Given the description of an element on the screen output the (x, y) to click on. 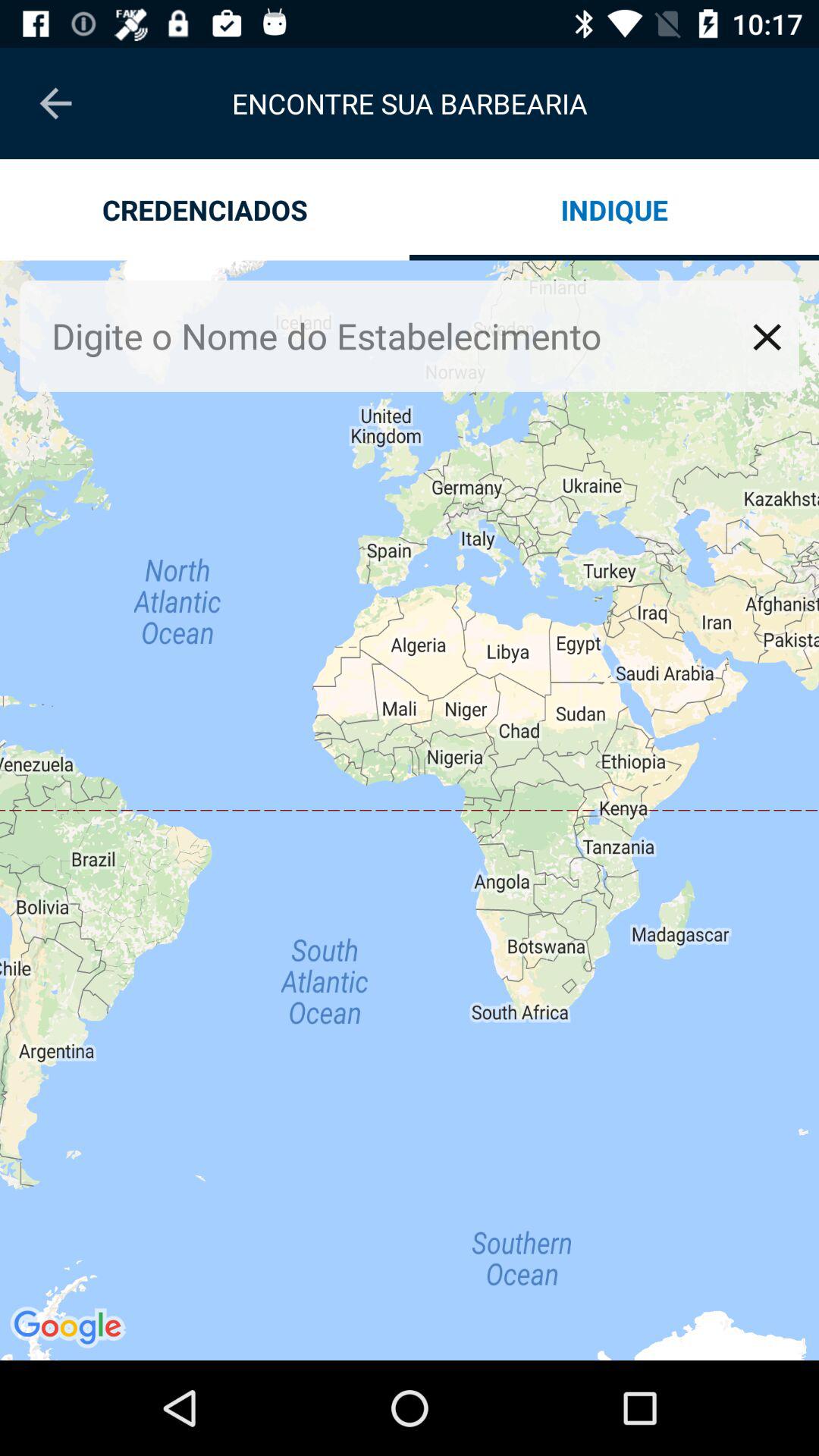
press the credenciados item (204, 209)
